Given the description of an element on the screen output the (x, y) to click on. 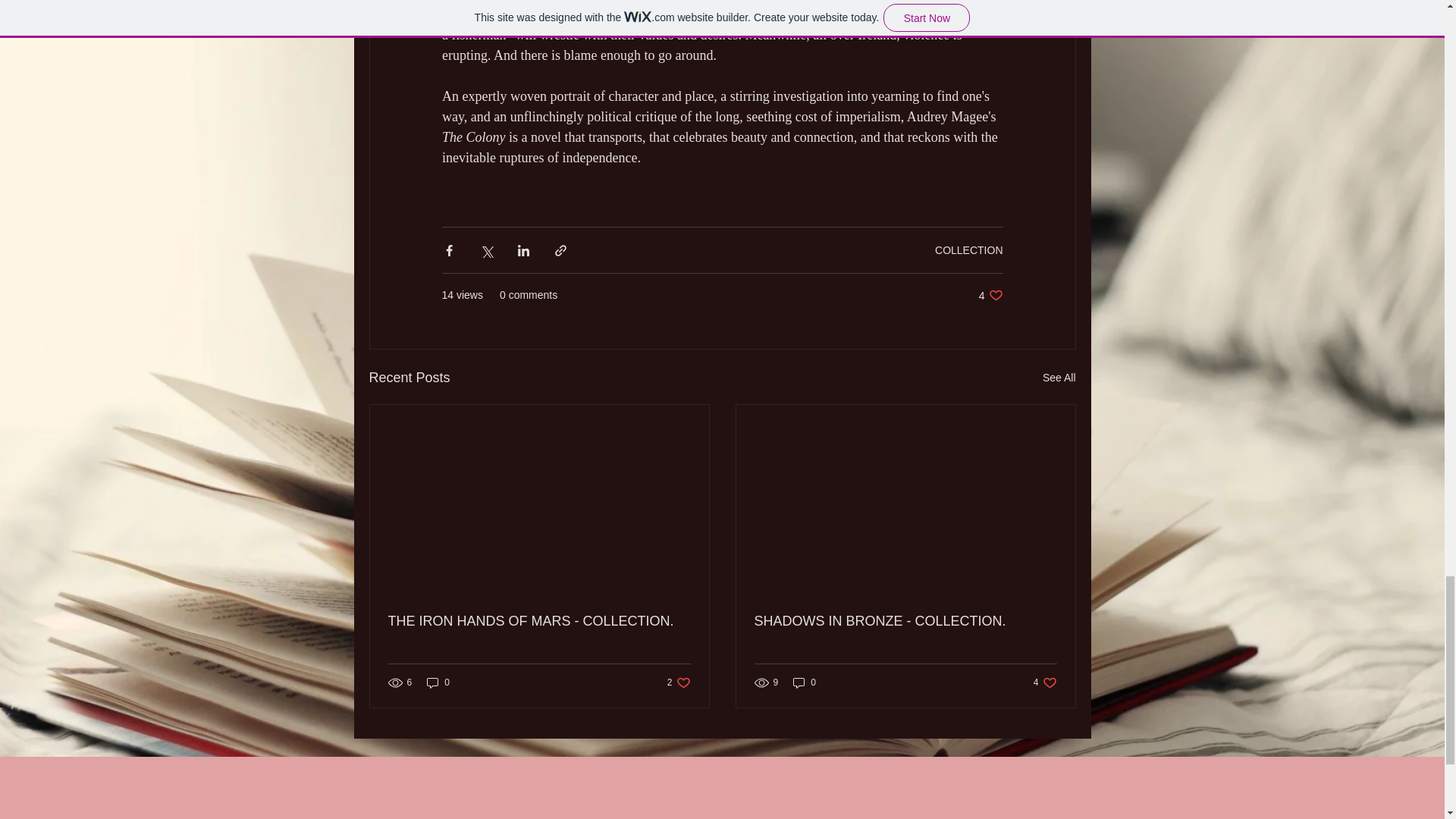
THE IRON HANDS OF MARS - COLLECTION. (539, 621)
See All (1058, 377)
SHADOWS IN BRONZE - COLLECTION. (1045, 682)
COLLECTION (990, 295)
0 (678, 682)
0 (905, 621)
